Given the description of an element on the screen output the (x, y) to click on. 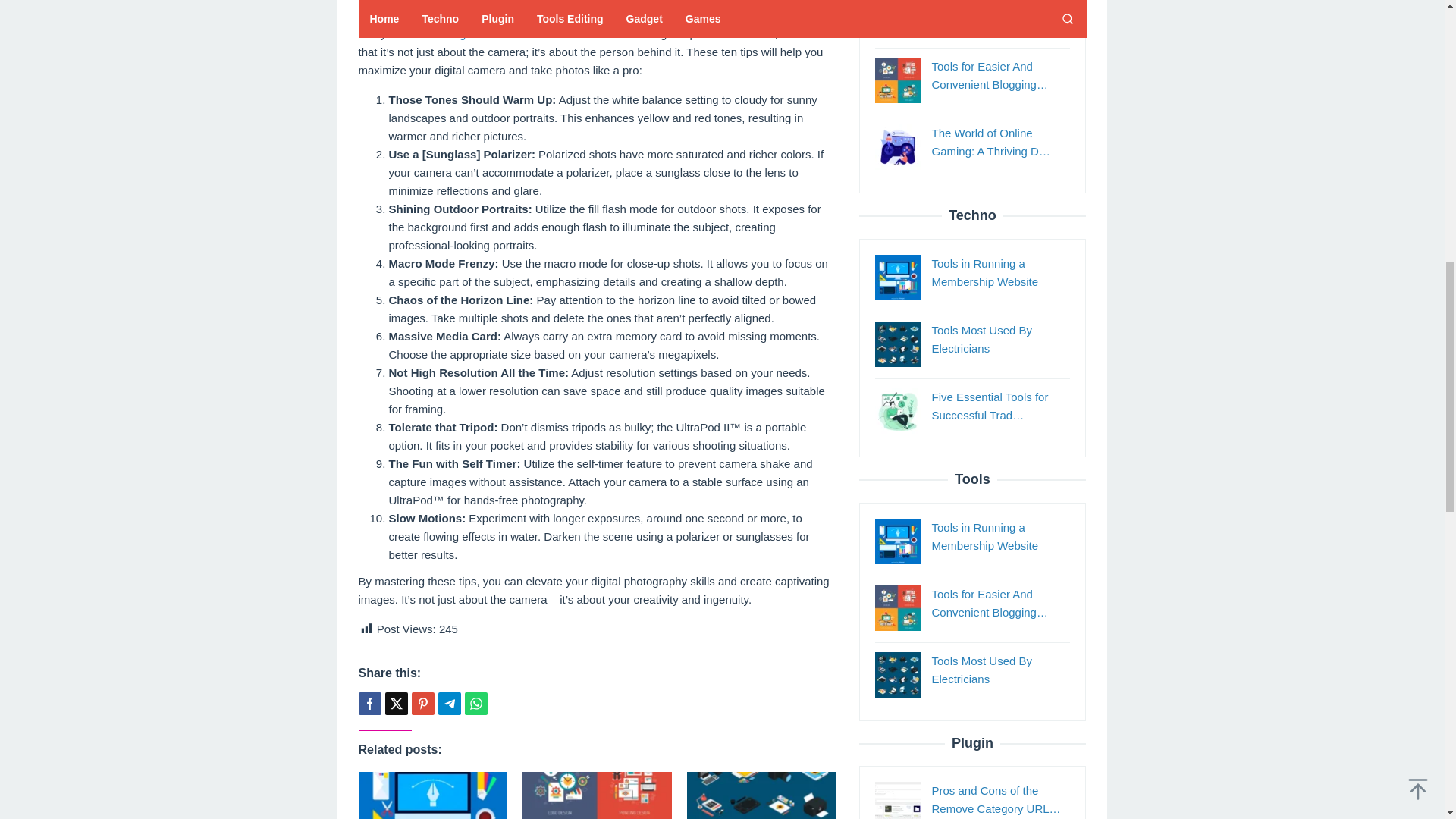
Pin this (421, 703)
Share this (369, 703)
Permalink to: Tools in Running a Membership Website (432, 795)
digital camera (485, 33)
Tweet this (396, 703)
Telegram Share (449, 703)
Whatsapp (475, 703)
